Given the description of an element on the screen output the (x, y) to click on. 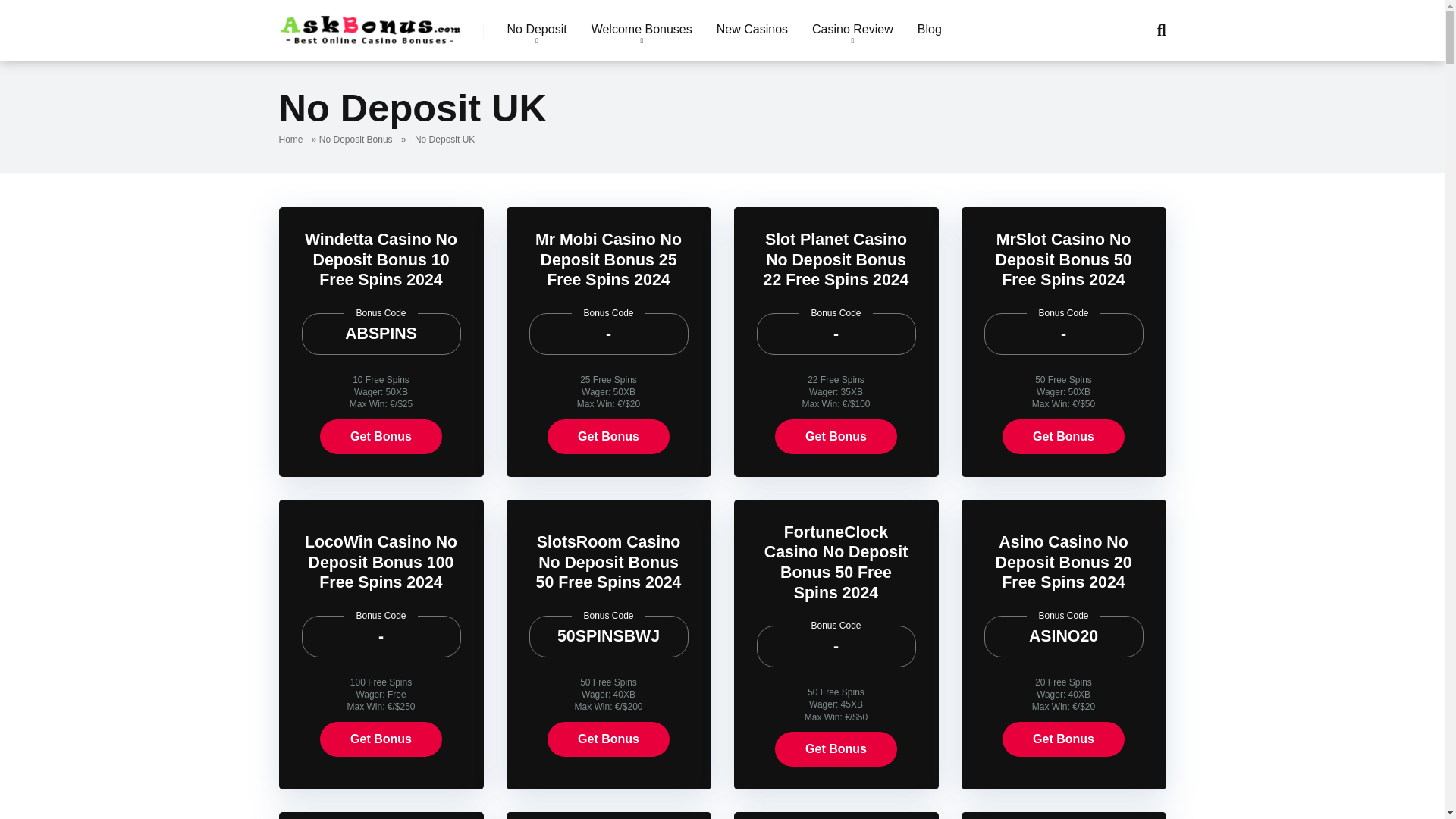
Get Bonus (608, 436)
AskBonus - Best Bonuses 2024 (371, 24)
New Casinos (751, 30)
Mr Mobi Casino No Deposit Bonus 25 Free Spins 2024 (608, 259)
Welcome Bonuses (641, 30)
FortuneClock Casino No Deposit Bonus 50 Free Spins 2024 (835, 562)
LocoWin Casino No Deposit Bonus 100 Free Spins 2024 (380, 562)
Get Bonus (608, 738)
Get Bonus (1063, 436)
Get Bonus (835, 749)
